Given the description of an element on the screen output the (x, y) to click on. 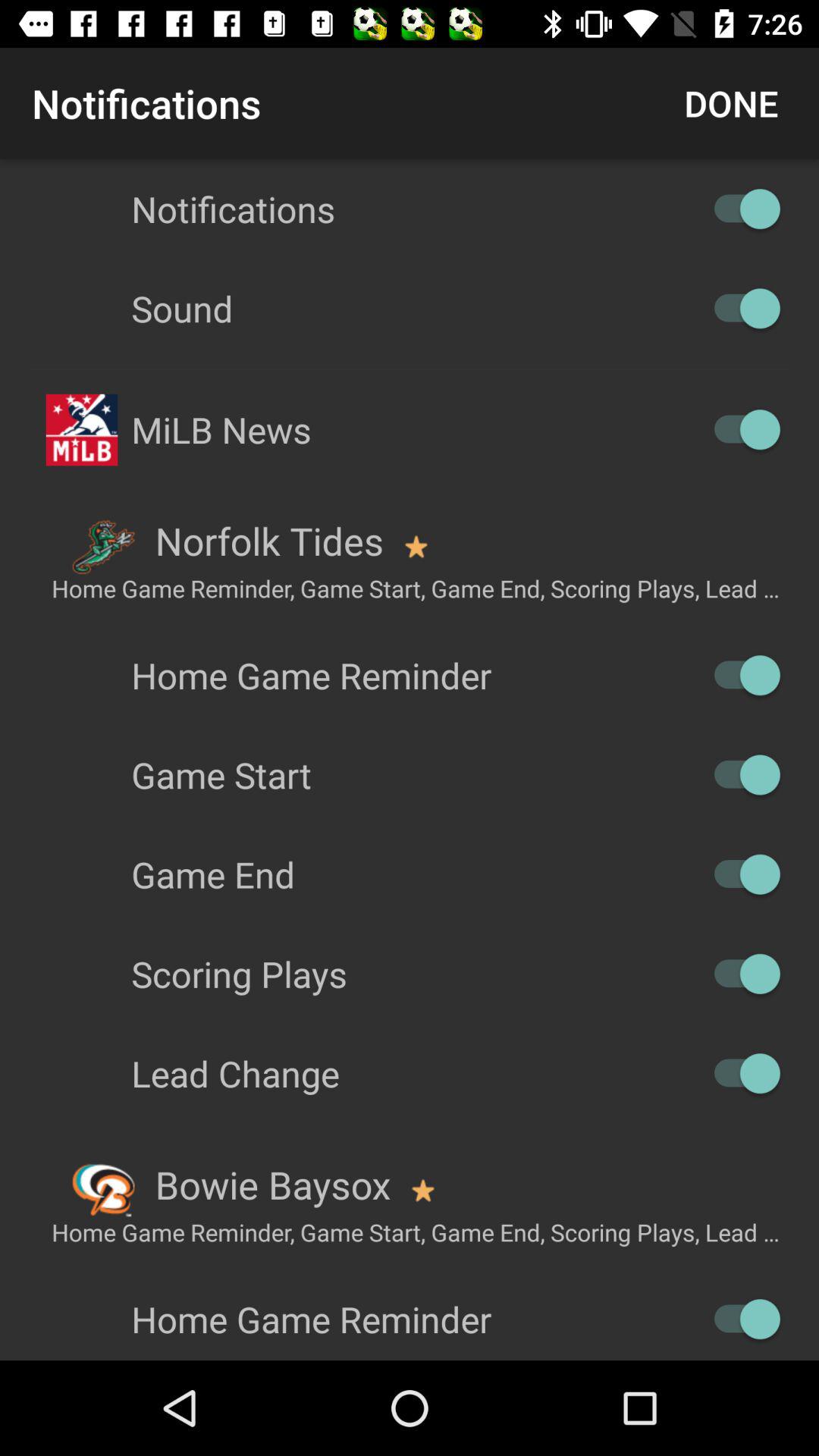
swipe to done icon (731, 103)
